Given the description of an element on the screen output the (x, y) to click on. 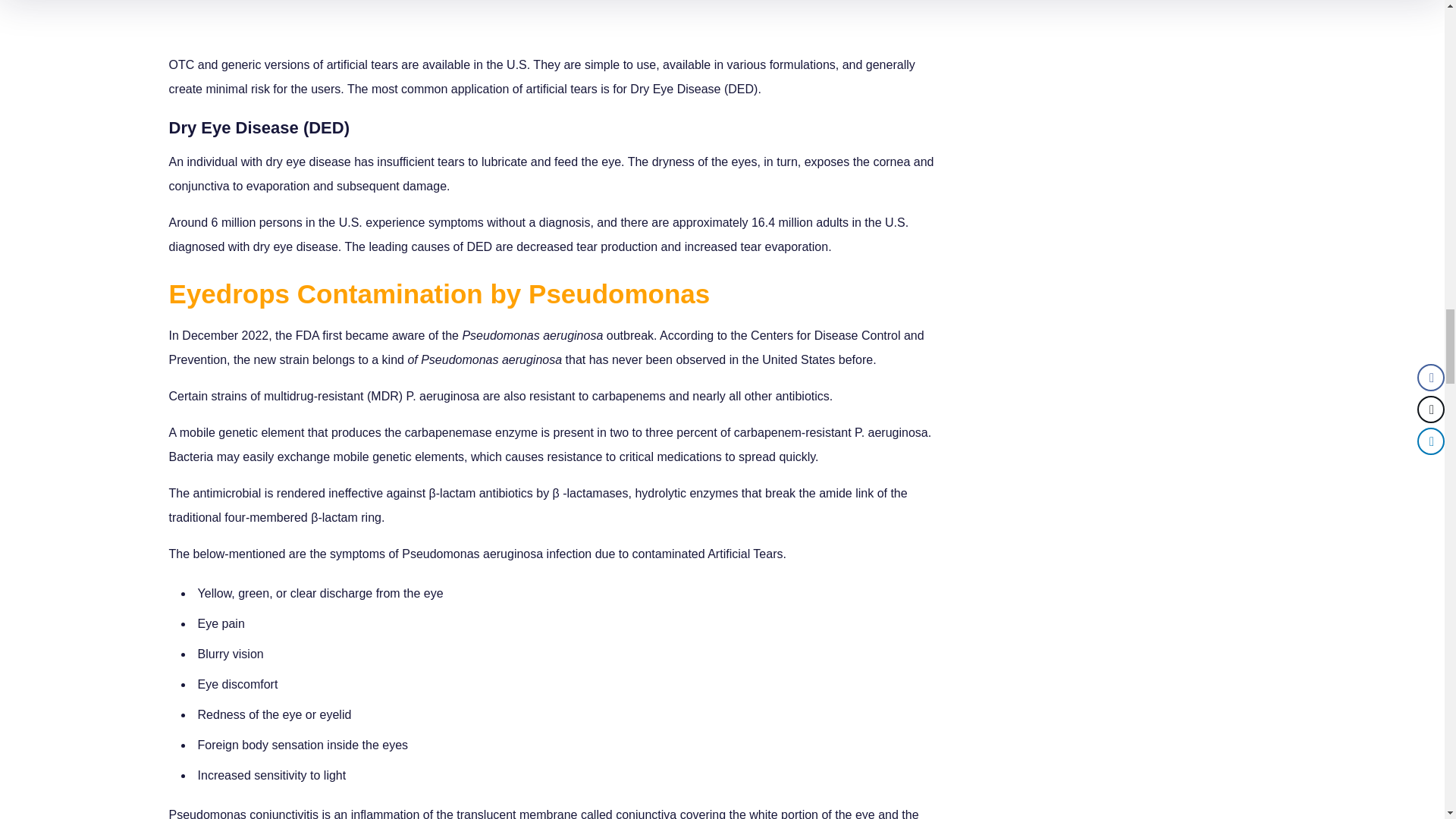
ezricare eye drops - LezDo TechMed Blog (554, 20)
